Given the description of an element on the screen output the (x, y) to click on. 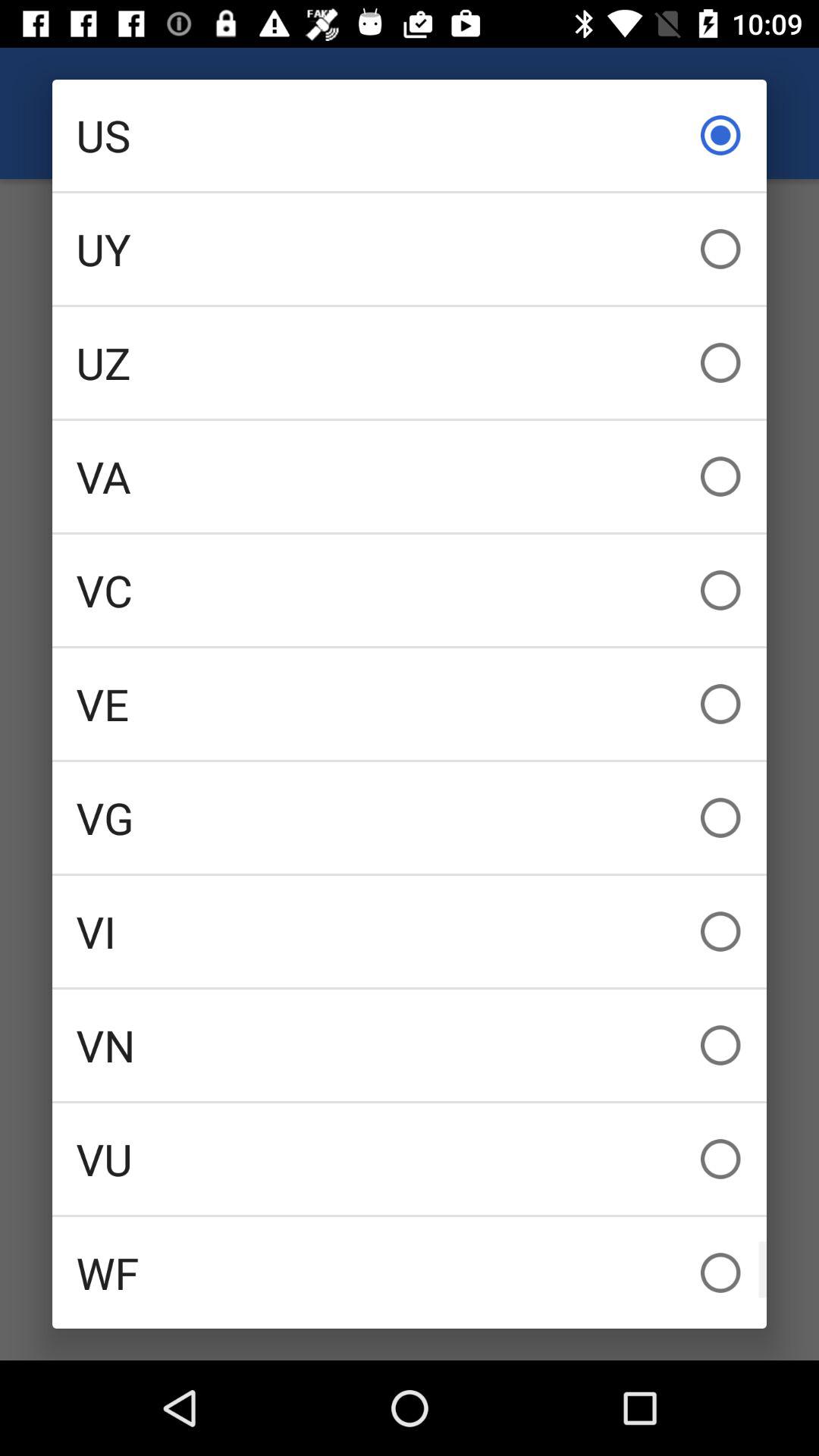
tap ve item (409, 703)
